Given the description of an element on the screen output the (x, y) to click on. 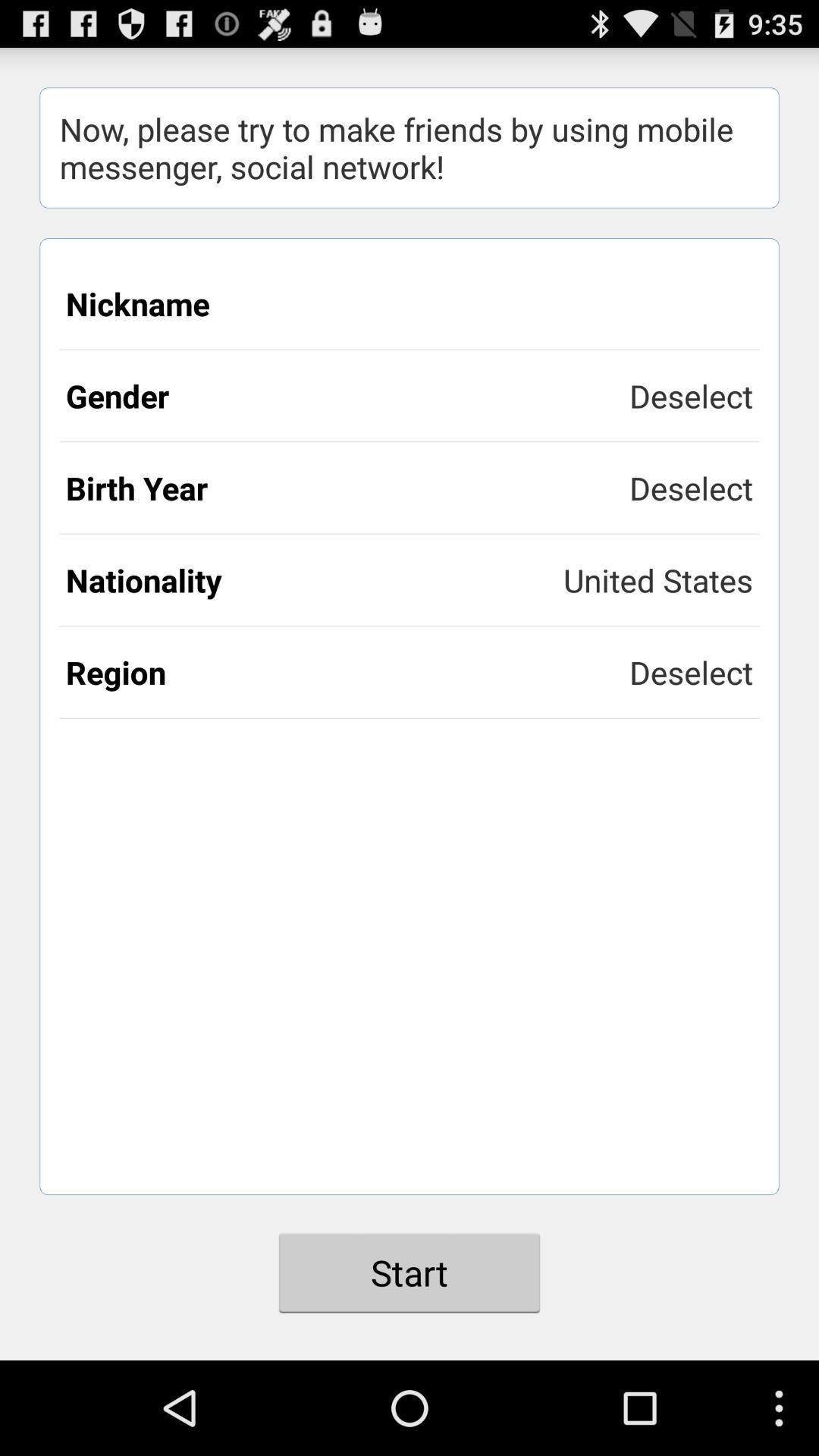
open the item below the region icon (409, 1272)
